Given the description of an element on the screen output the (x, y) to click on. 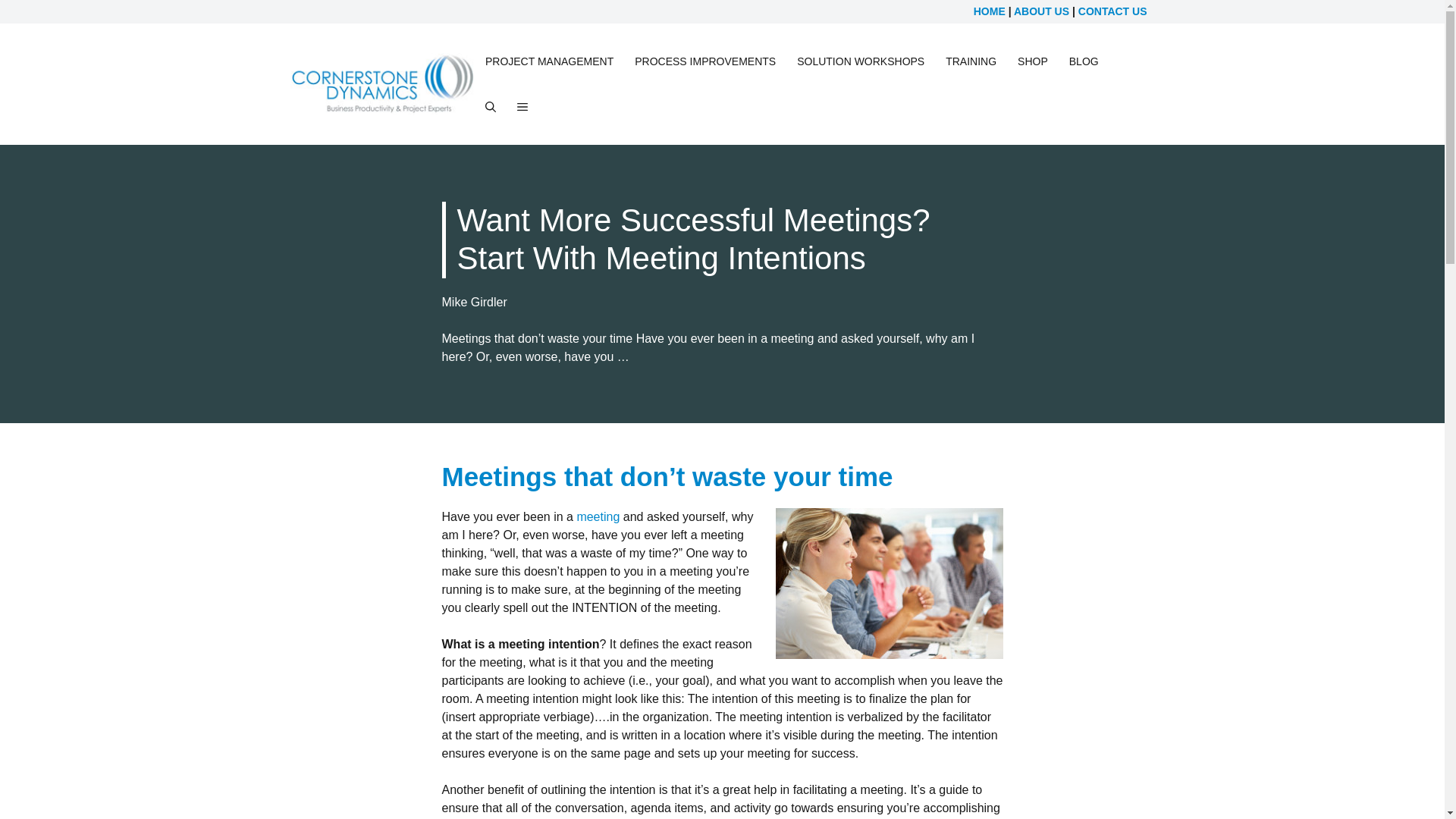
SHOP (1032, 61)
BLOG (1083, 61)
ABOUT US (1040, 10)
PROJECT MANAGEMENT (549, 61)
CONTACT US (1112, 10)
Mike Girdler (473, 301)
HOME (990, 10)
SOLUTION WORKSHOPS (860, 61)
TRAINING (970, 61)
meeting (598, 516)
PROCESS IMPROVEMENTS (705, 61)
